Given the description of an element on the screen output the (x, y) to click on. 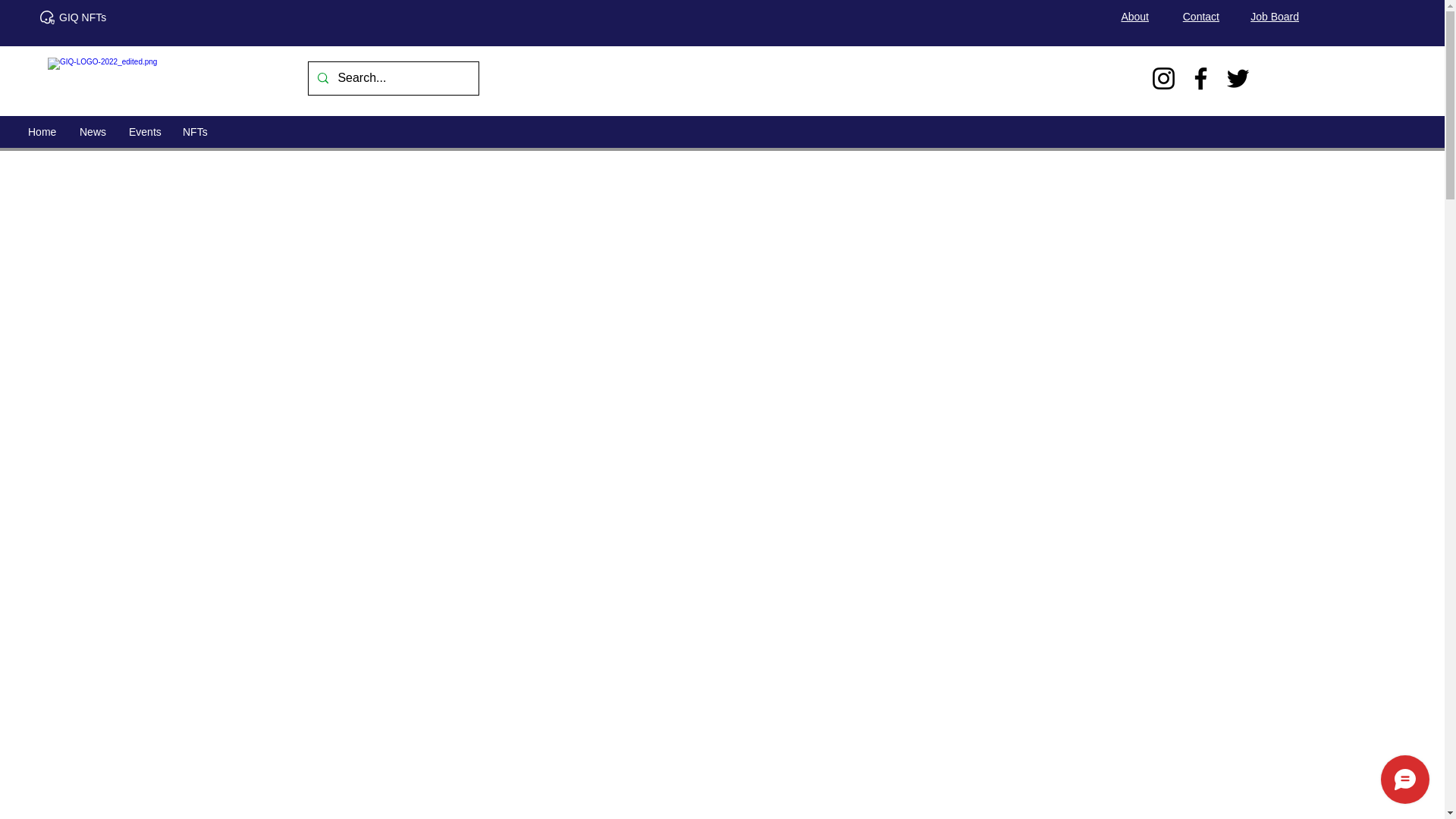
NFTs (193, 132)
Contact (1201, 16)
About (1134, 16)
News (92, 132)
Events (144, 132)
Job Board (1274, 16)
Home (42, 132)
GIQ NFTs (82, 17)
